Given the description of an element on the screen output the (x, y) to click on. 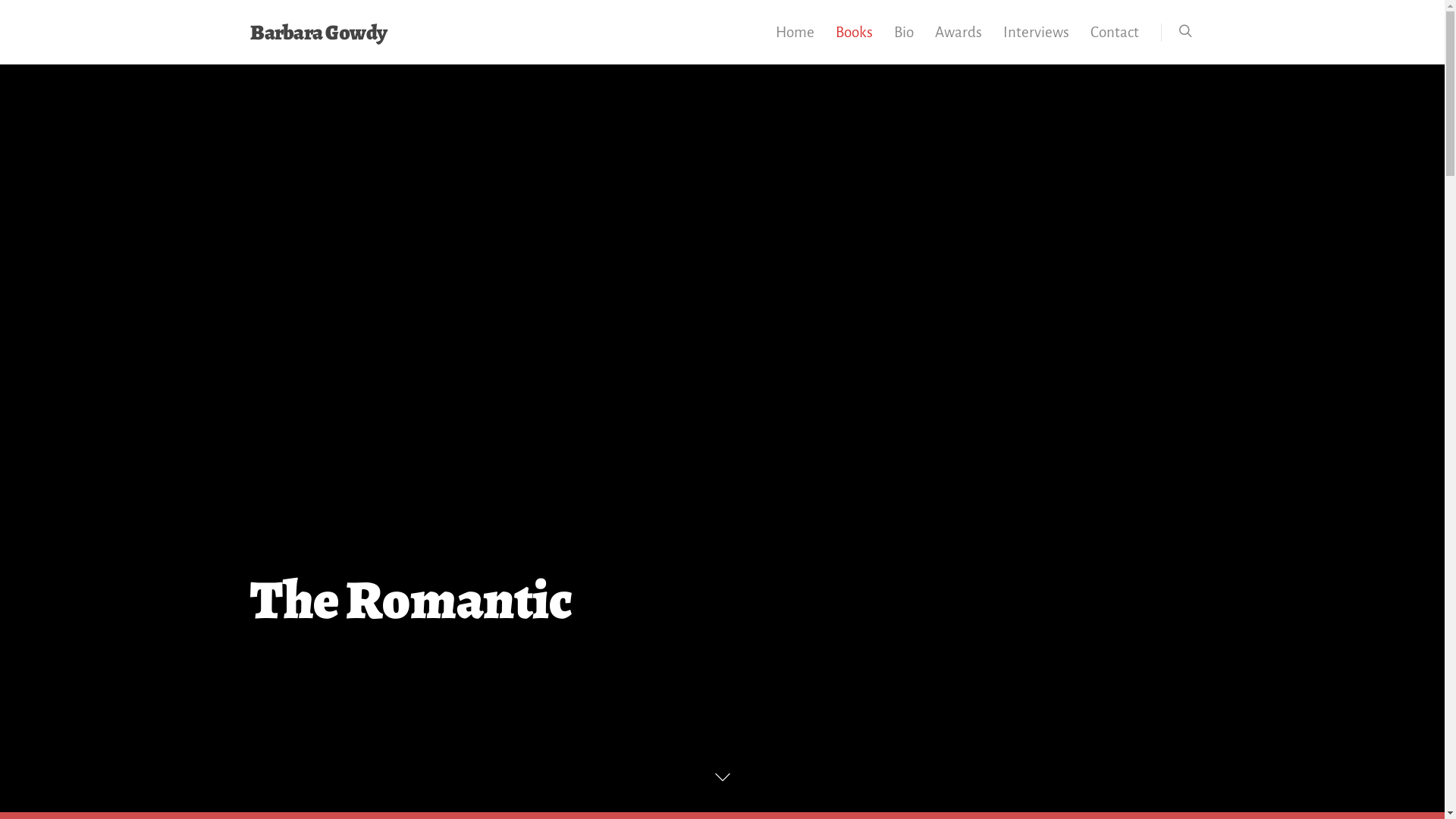
Interviews Element type: text (1036, 42)
Books Element type: text (853, 42)
Bio Element type: text (903, 42)
Barbara Gowdy Element type: text (318, 32)
Home Element type: text (794, 42)
Contact Element type: text (1114, 42)
Awards Element type: text (958, 42)
